Given the description of an element on the screen output the (x, y) to click on. 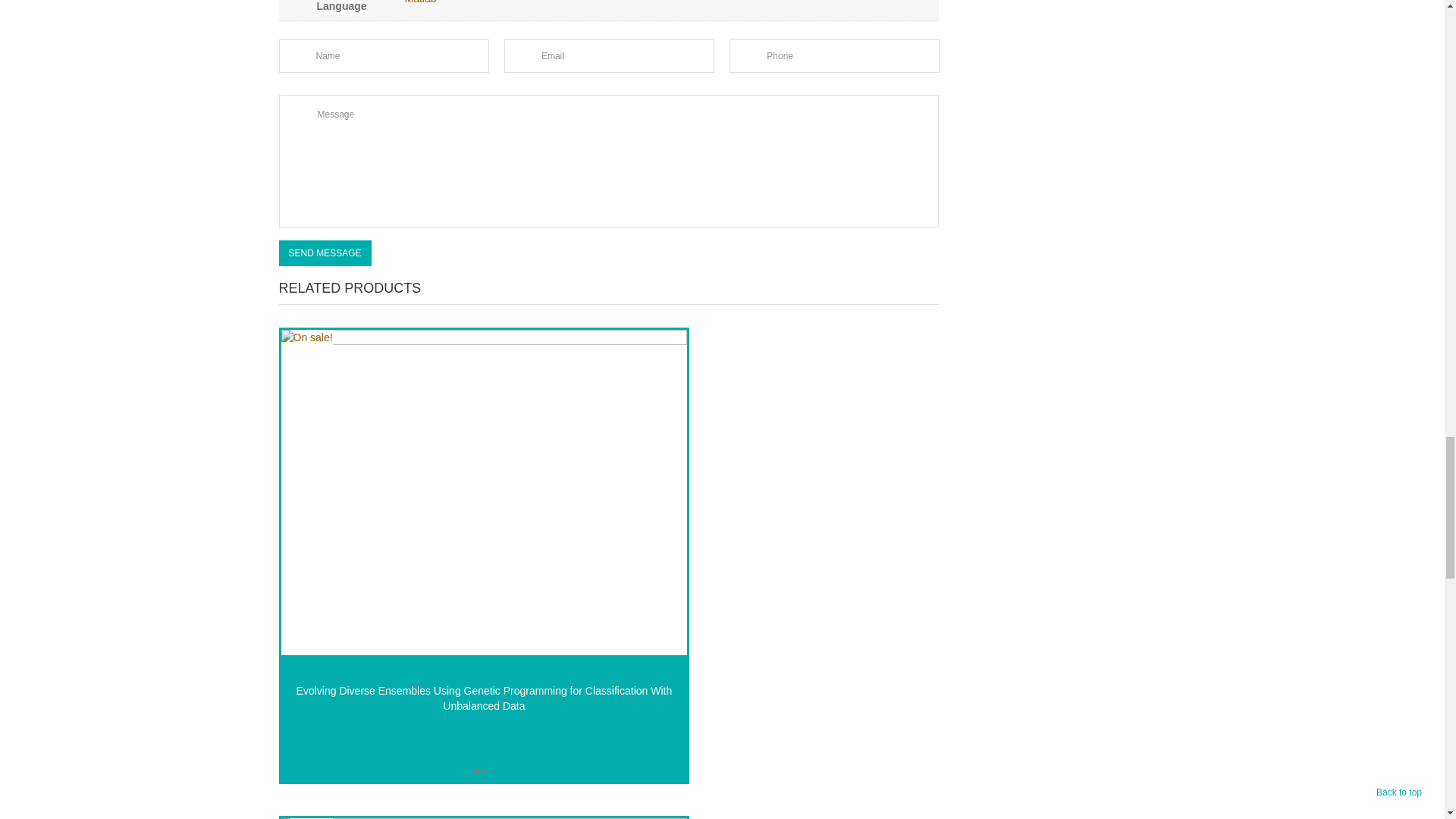
Send Message (325, 253)
